Given the description of an element on the screen output the (x, y) to click on. 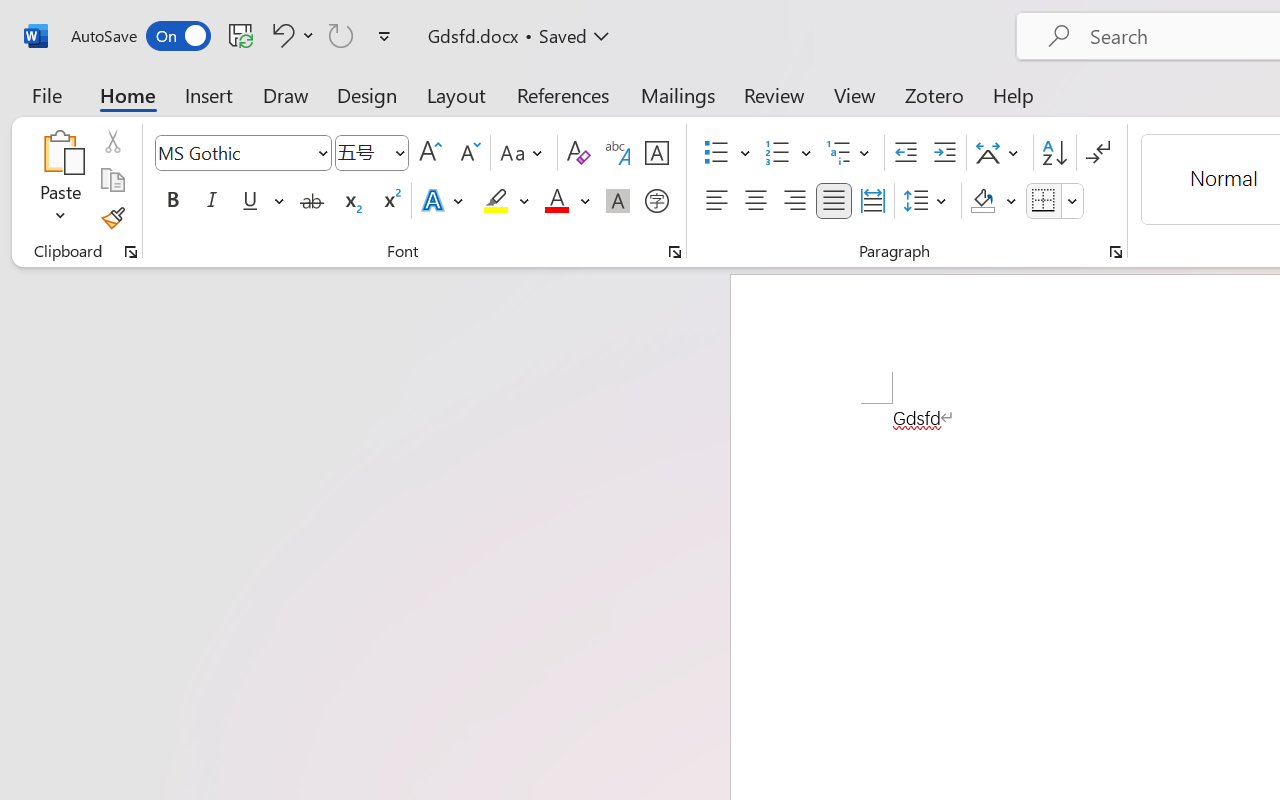
Font Color Red (556, 201)
Undo Font Formatting (290, 35)
